Given the description of an element on the screen output the (x, y) to click on. 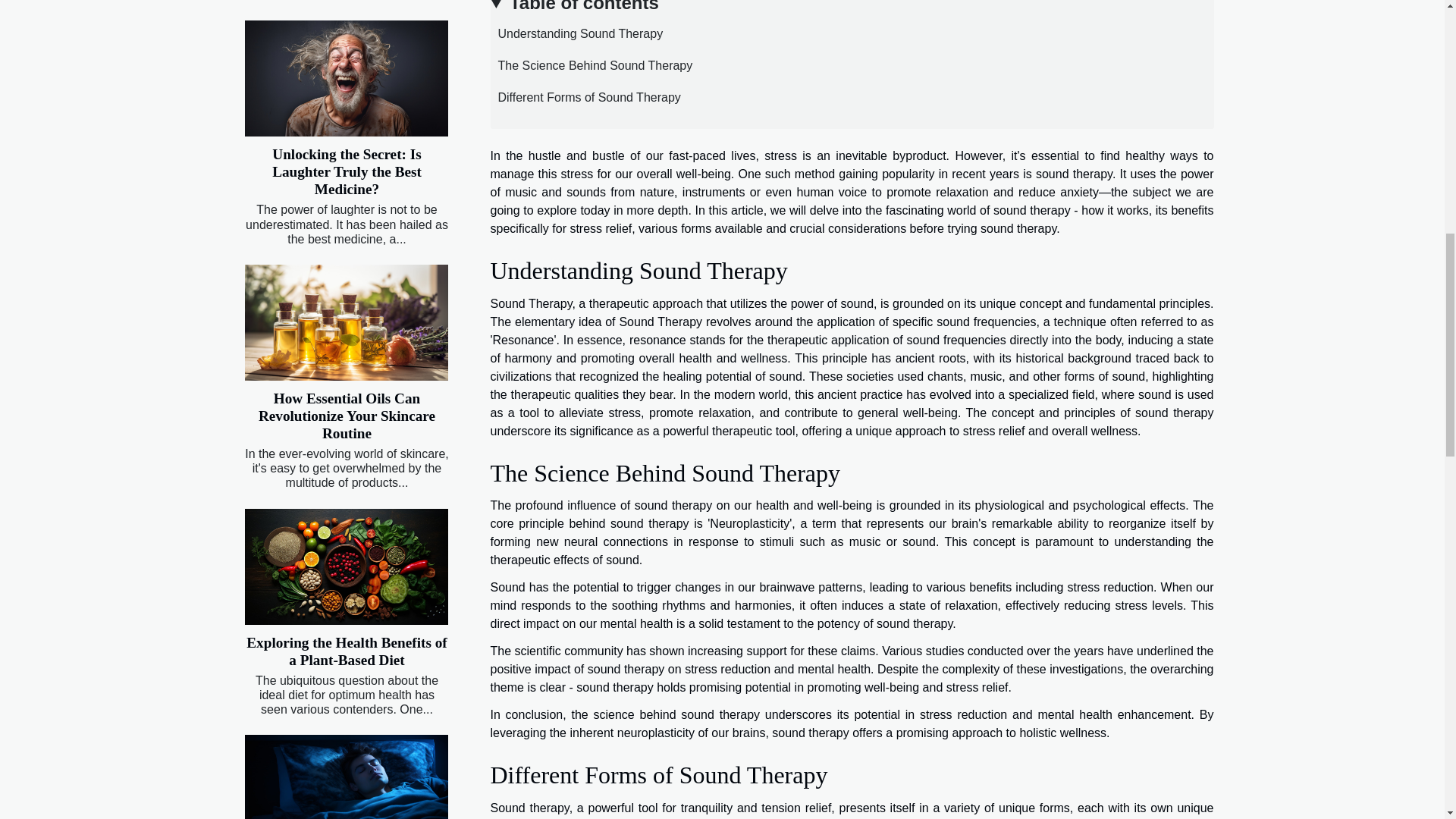
Exploring the Health Benefits of a Plant-Based Diet (345, 566)
How Essential Oils Can Revolutionize Your Skincare Routine (345, 322)
Demystifying the Impact of Blue Light on Sleep Quality (345, 776)
Unlocking the Secret: Is Laughter Truly the Best Medicine? (347, 171)
Exploring the Health Benefits of a Plant-Based Diet (346, 651)
Unlocking the Secret: Is Laughter Truly the Best Medicine? (347, 171)
The Science Behind Sound Therapy (591, 65)
How Essential Oils Can Revolutionize Your Skincare Routine (347, 415)
How Essential Oils Can Revolutionize Your Skincare Routine (347, 415)
Understanding Sound Therapy (575, 33)
Unlocking the Secret: Is Laughter Truly the Best Medicine? (345, 78)
Exploring the Health Benefits of a Plant-Based Diet (346, 651)
Different Forms of Sound Therapy (584, 97)
